Given the description of an element on the screen output the (x, y) to click on. 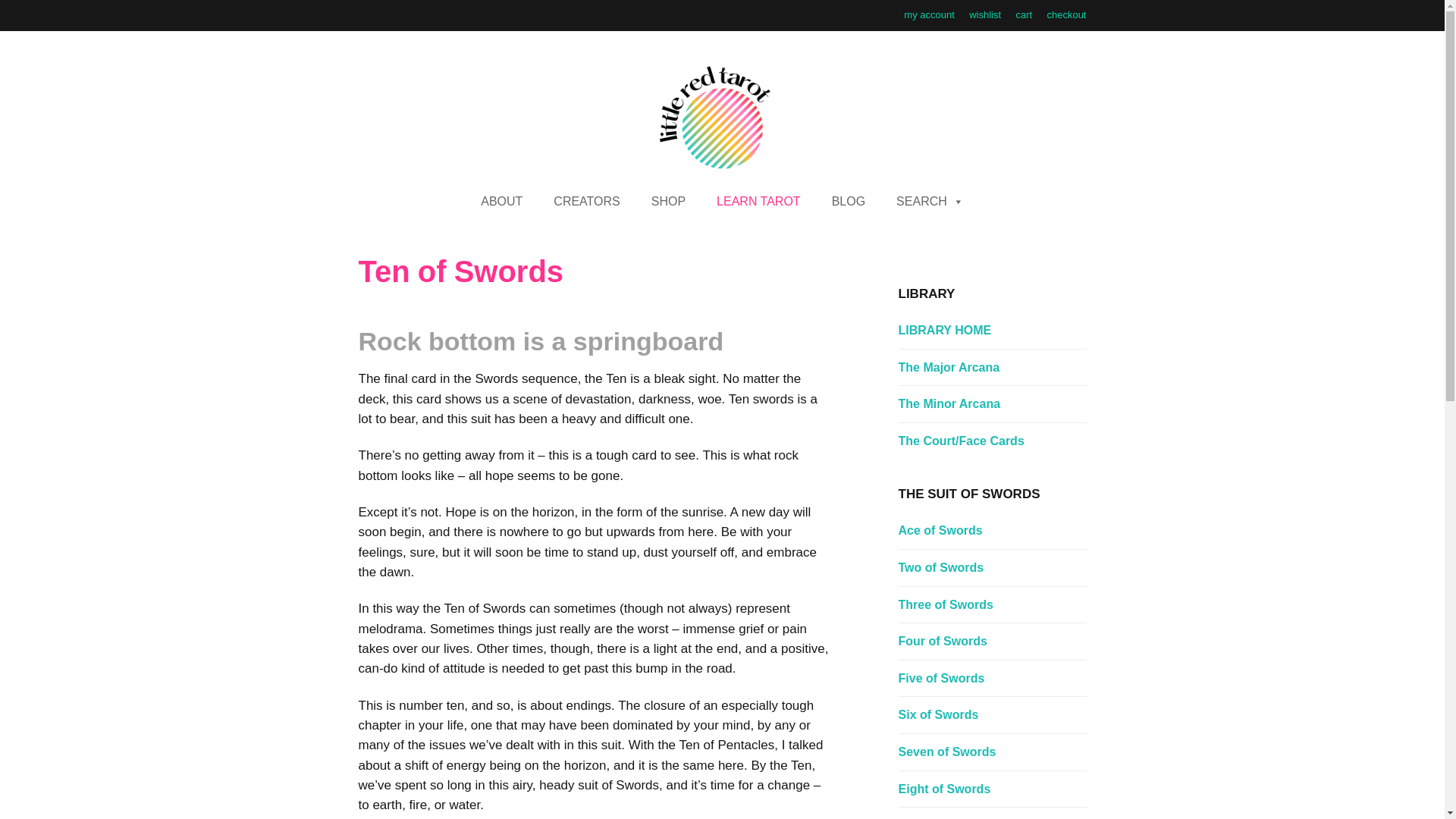
ABOUT (501, 201)
Search (547, 294)
CREATORS (586, 201)
checkout (1066, 14)
cart (1023, 14)
wishlist (985, 14)
SHOP (668, 201)
my account (928, 14)
